Given the description of an element on the screen output the (x, y) to click on. 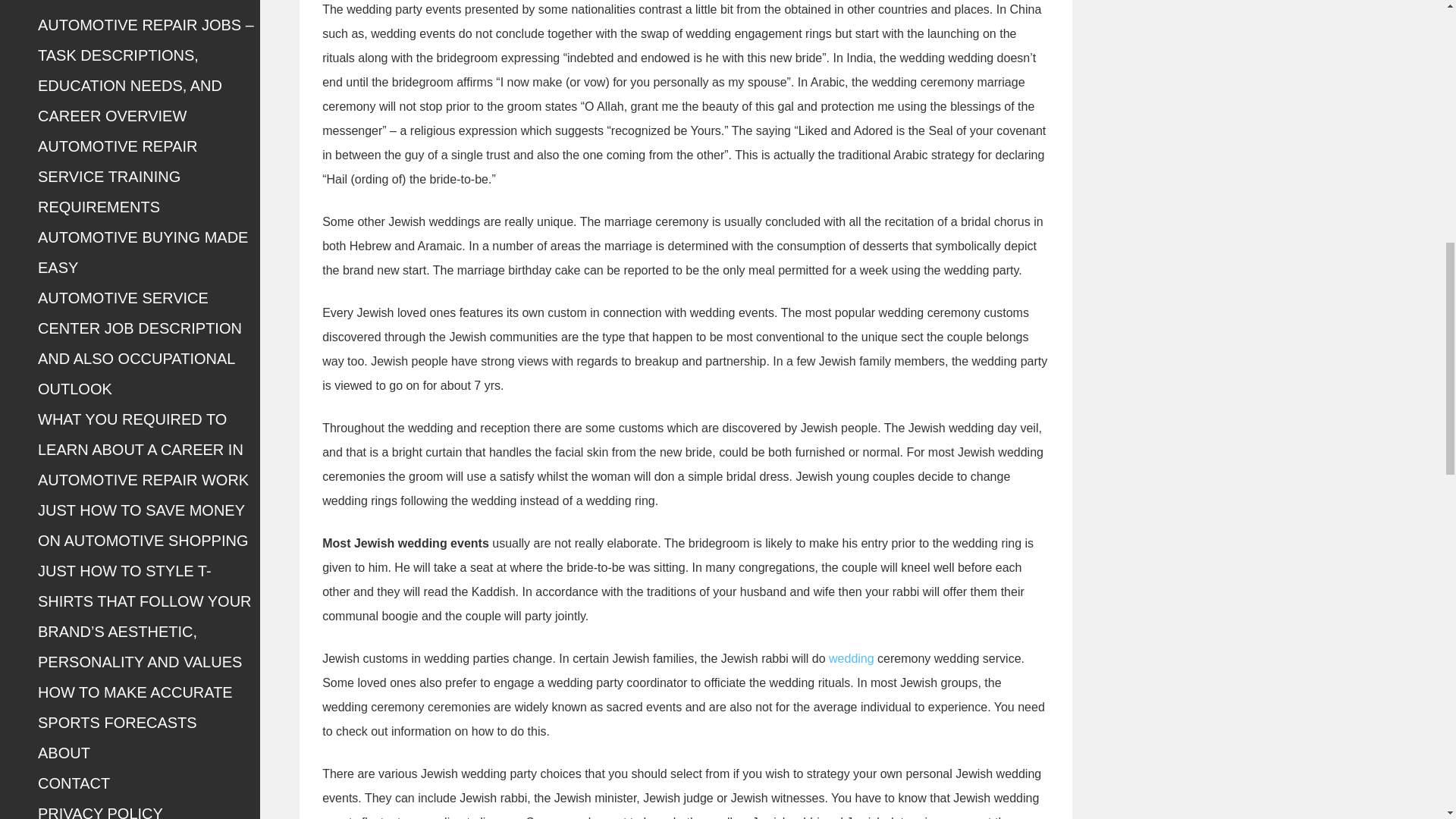
AUTOMOTIVE REPAIR SERVICE EDUCATION AND ALSO CAREER OUTLOOK (134, 1)
CONTACT (73, 782)
JUST HOW TO SAVE MONEY ON AUTOMOTIVE SHOPPING (142, 525)
AUTOMOTIVE BUYING MADE EASY (142, 252)
ABOUT (63, 752)
wedding (851, 658)
AUTOMOTIVE REPAIR SERVICE TRAINING REQUIREMENTS (116, 176)
HOW TO MAKE ACCURATE SPORTS FORECASTS (134, 707)
